Given the description of an element on the screen output the (x, y) to click on. 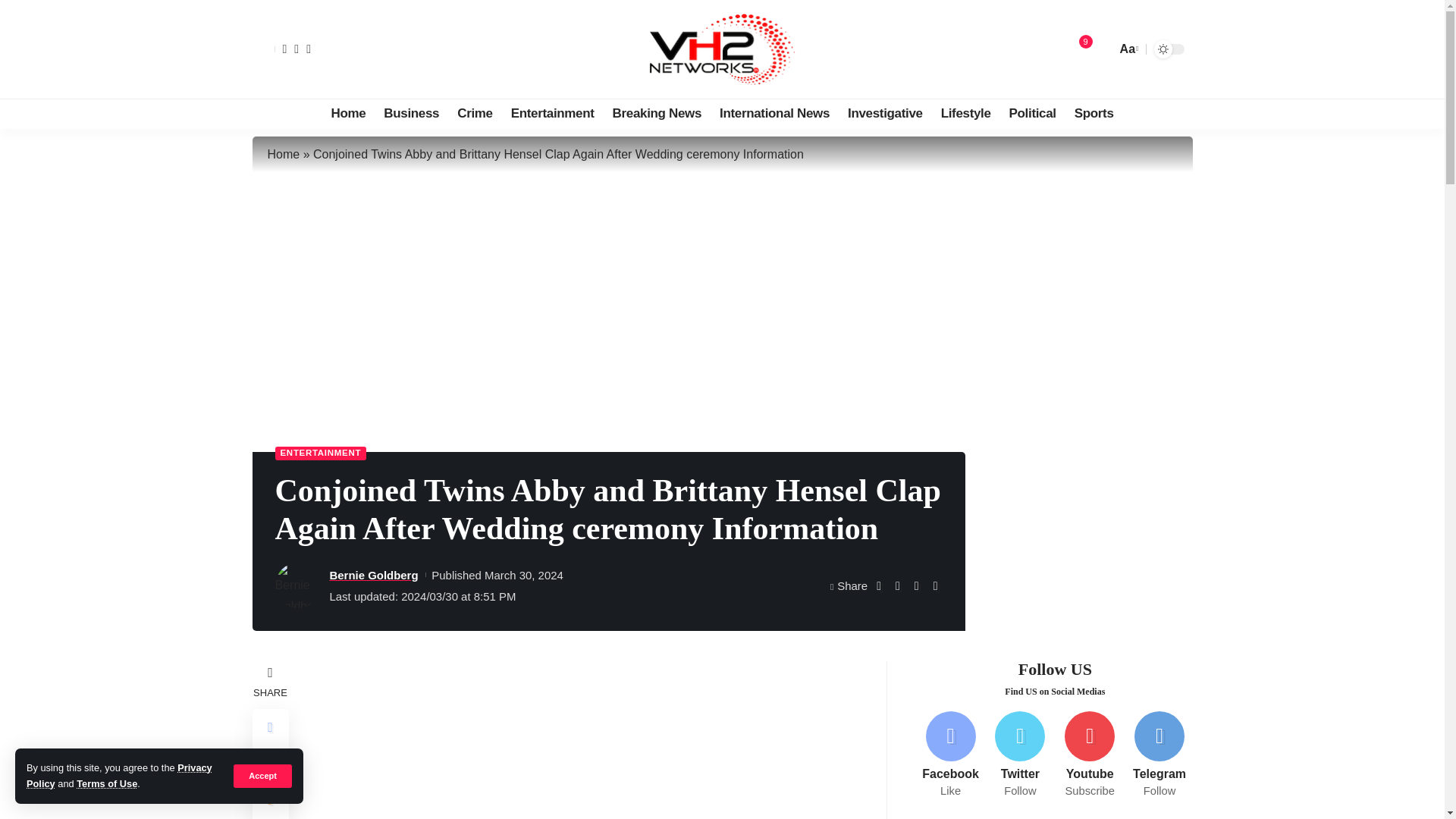
9 (1078, 48)
Accept (262, 775)
Terms of Use (106, 783)
Privacy Policy (119, 775)
Aa (1127, 48)
VH2 Networks (721, 48)
